Given the description of an element on the screen output the (x, y) to click on. 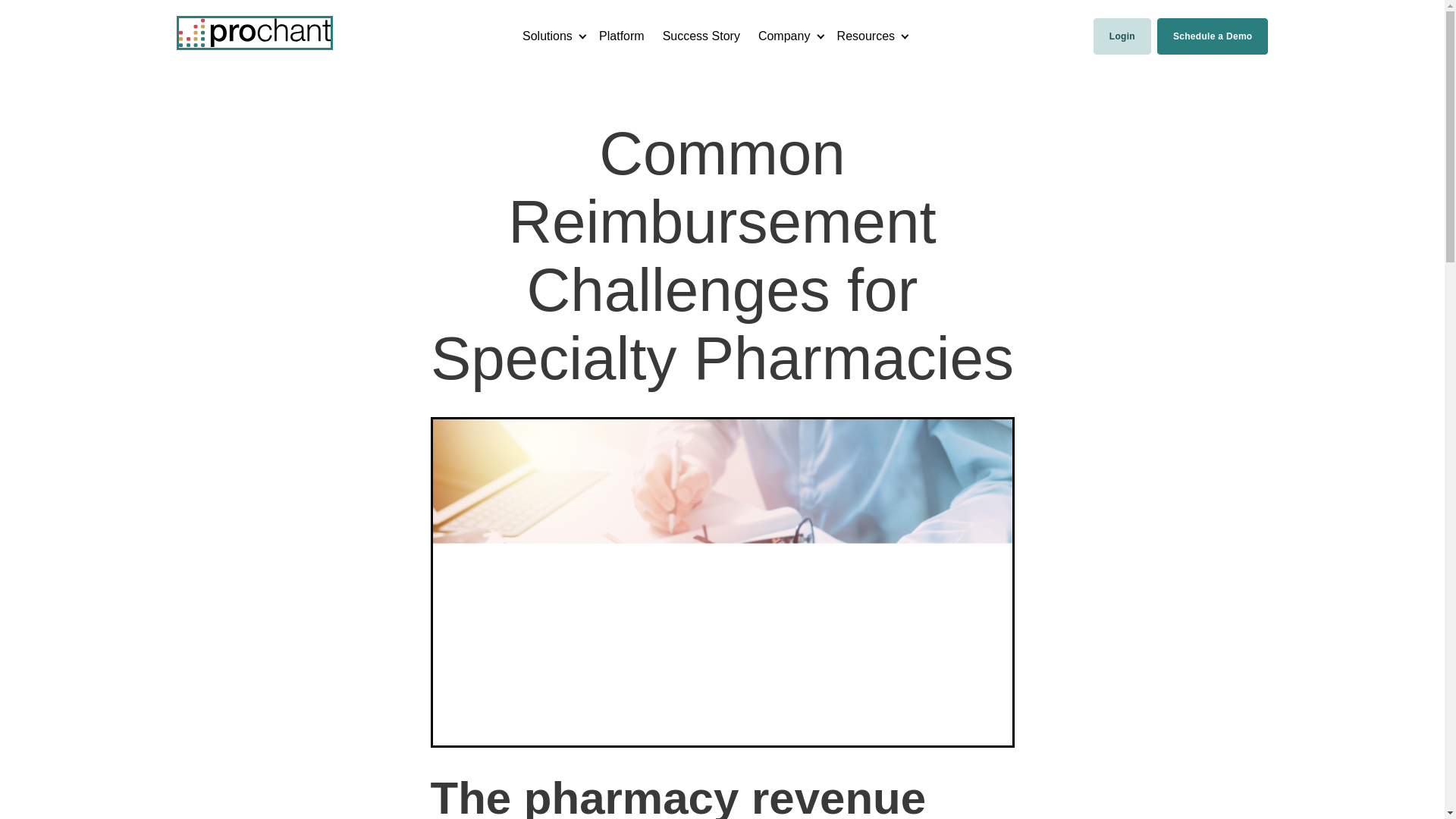
Resources (866, 36)
Login (1122, 36)
Company (783, 36)
Platform (621, 36)
Schedule a Demo (1212, 36)
Success Story (700, 36)
Solutions (547, 36)
